Given the description of an element on the screen output the (x, y) to click on. 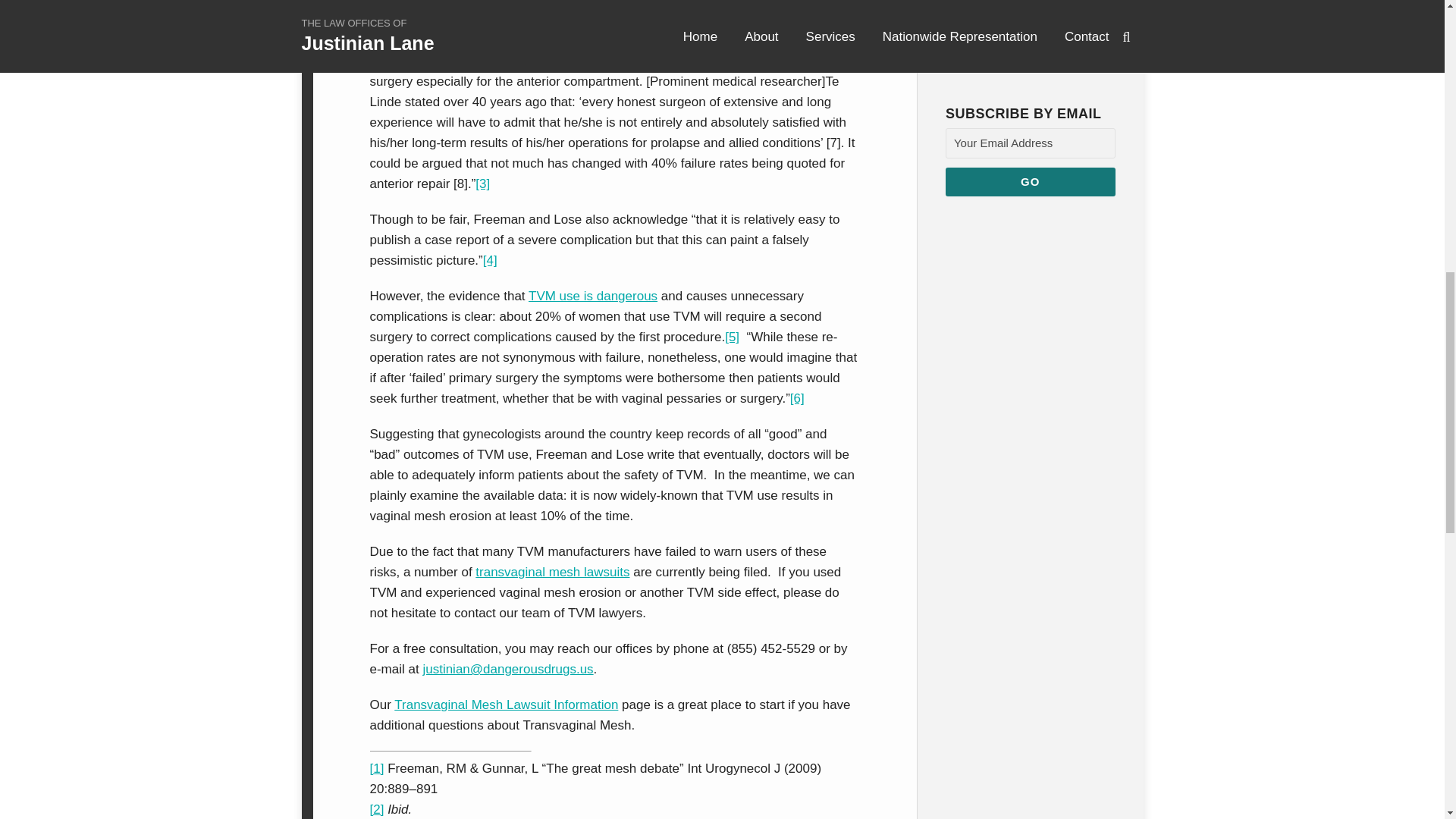
transvaginal mesh lawsuits (552, 572)
Transvaginal Mesh Lawsuit Information (505, 704)
TVM use is dangerous (593, 296)
GO (1029, 181)
